Given the description of an element on the screen output the (x, y) to click on. 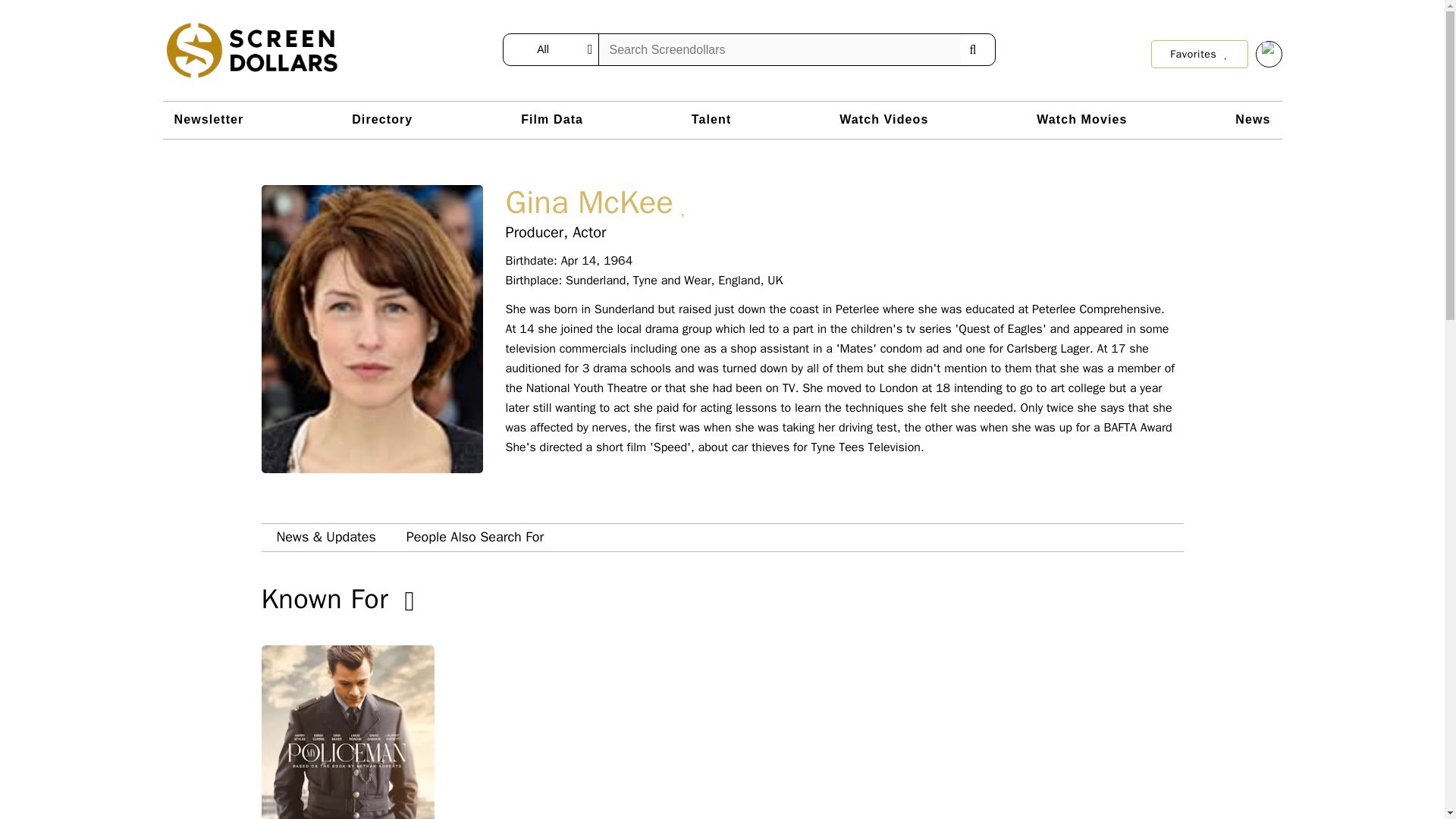
Watch Videos (883, 119)
Film Data (552, 119)
Directory (382, 119)
Sign In (1268, 53)
Talent (711, 119)
Watch Movies (1081, 119)
Screendollars (252, 49)
Screendollars (252, 49)
Newsletter (209, 119)
People Also Search For (475, 536)
